Given the description of an element on the screen output the (x, y) to click on. 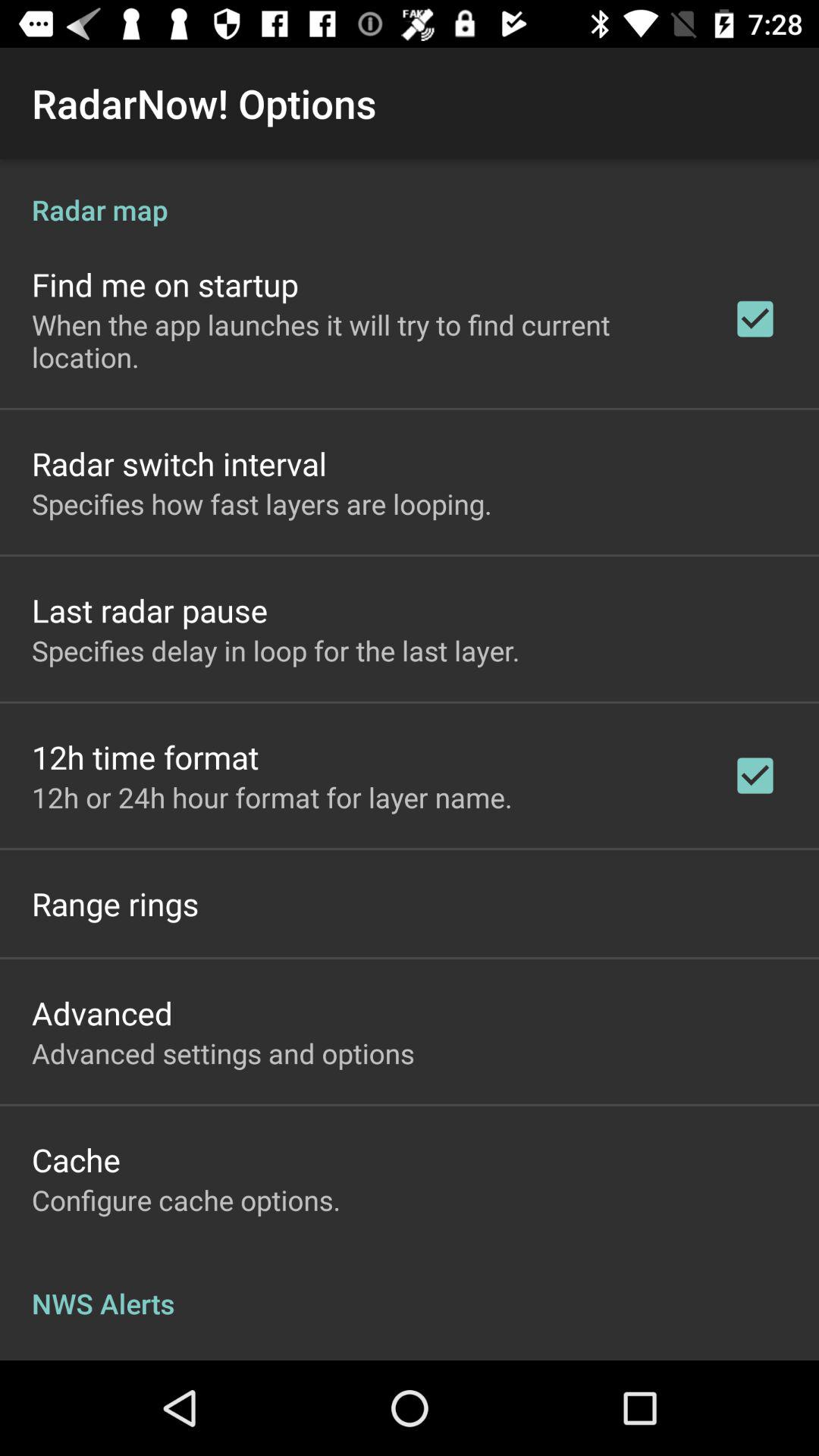
choose icon below 12h time format app (271, 797)
